Given the description of an element on the screen output the (x, y) to click on. 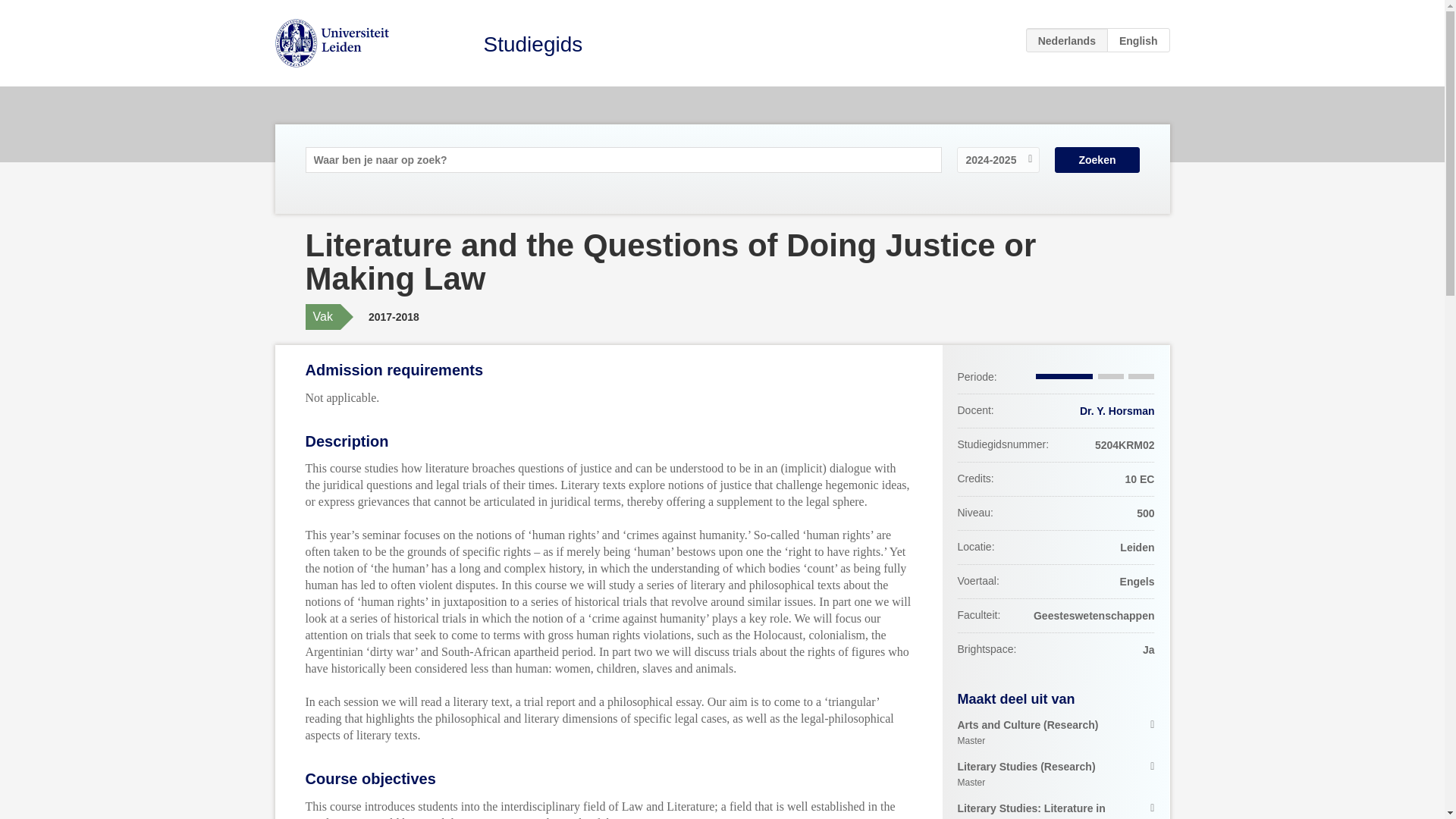
Zoeken (1096, 159)
Dr. Y. Horsman (1117, 410)
Studiegids (533, 44)
EN (1138, 39)
